Given the description of an element on the screen output the (x, y) to click on. 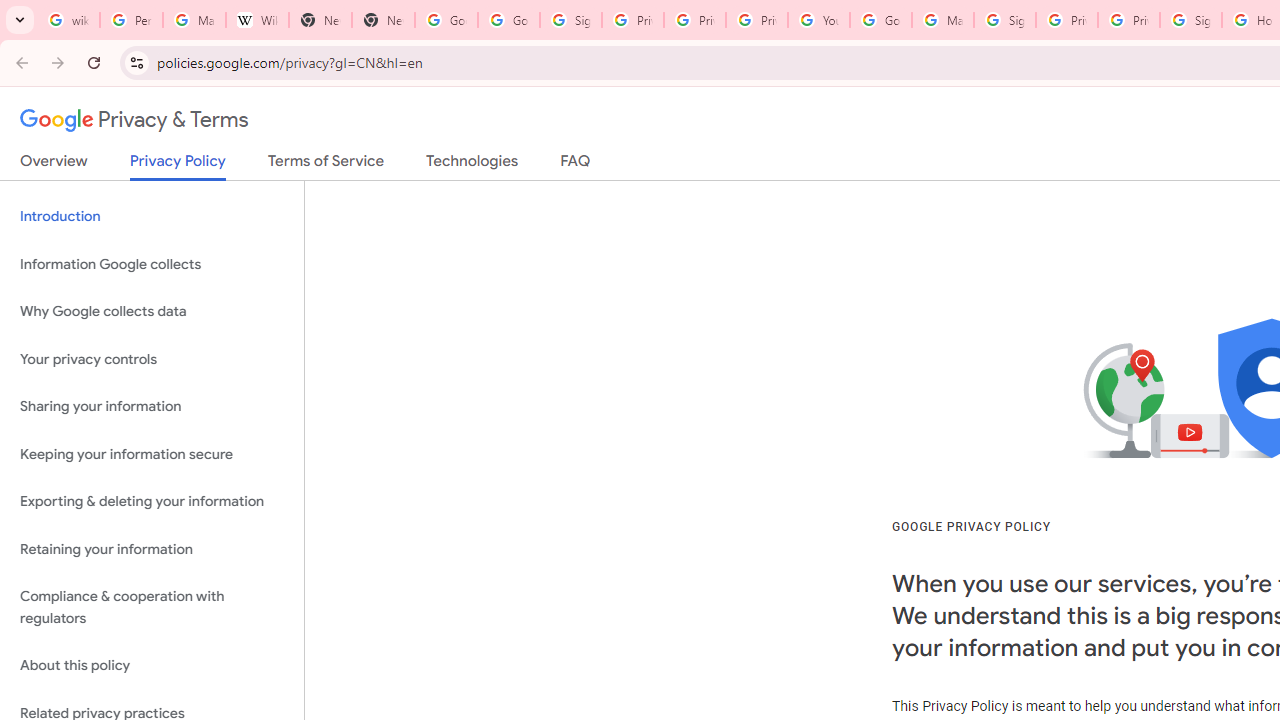
Your privacy controls (152, 358)
Why Google collects data (152, 312)
Sign in - Google Accounts (1004, 20)
Wikipedia:Edit requests - Wikipedia (257, 20)
Introduction (152, 216)
YouTube (818, 20)
Compliance & cooperation with regulators (152, 607)
Retaining your information (152, 548)
